Given the description of an element on the screen output the (x, y) to click on. 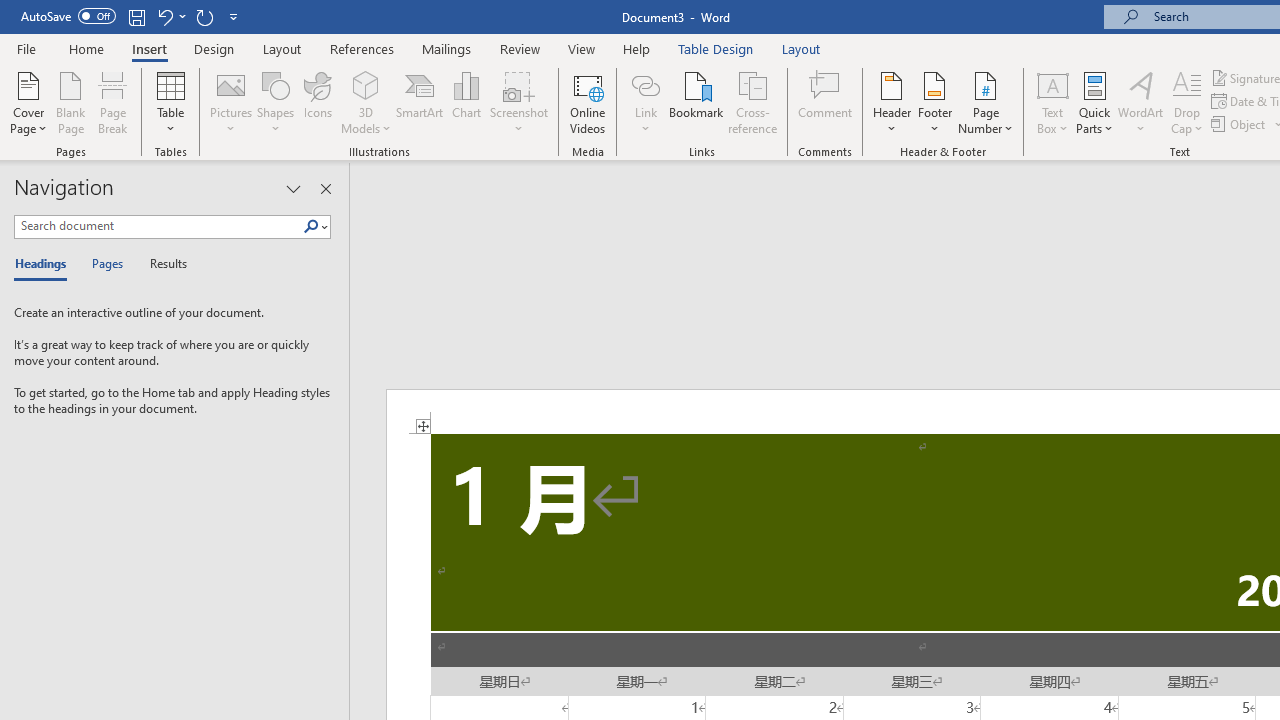
Blank Page (70, 102)
Review (520, 48)
Page Break (113, 102)
Table Design (715, 48)
Link (645, 84)
WordArt (1141, 102)
Home (86, 48)
Pictures (230, 102)
Customize Quick Access Toolbar (234, 15)
Object... (1240, 124)
Footer (934, 102)
SmartArt... (419, 102)
Insert (149, 48)
